Given the description of an element on the screen output the (x, y) to click on. 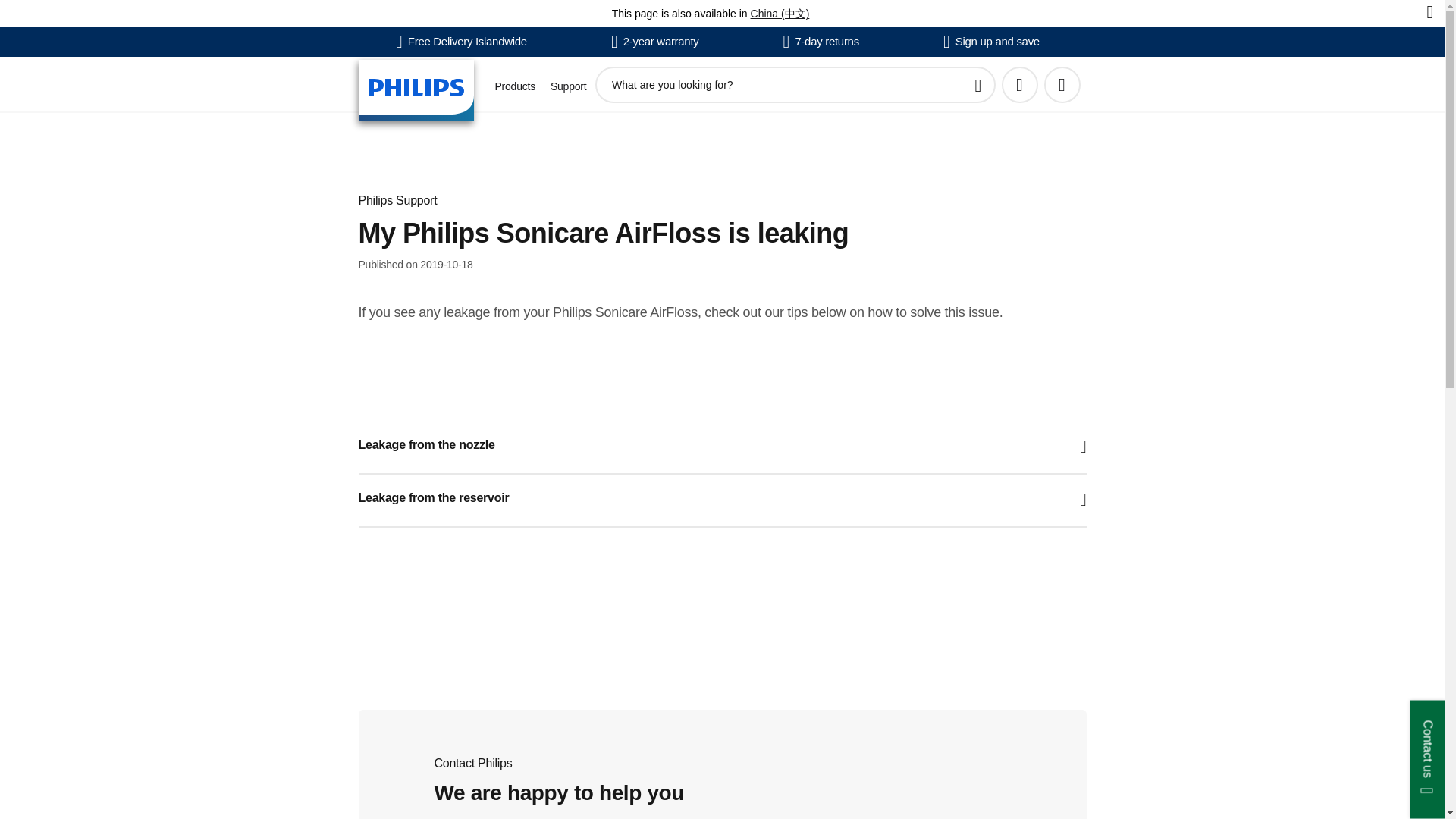
Products (513, 86)
Home (415, 90)
